Given the description of an element on the screen output the (x, y) to click on. 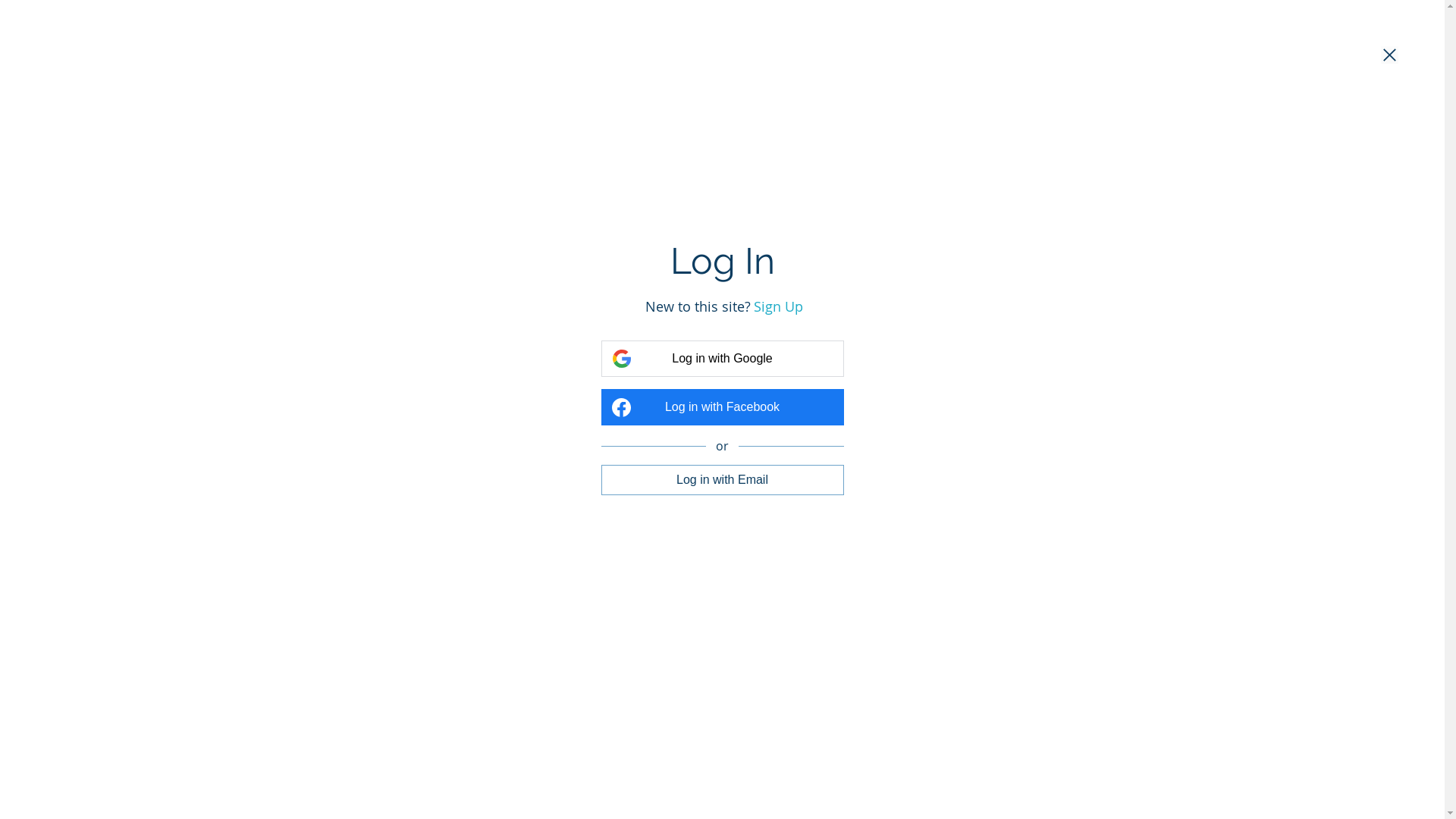
Sign Up Element type: text (778, 306)
Log in with Facebook Element type: text (721, 407)
Log in with Email Element type: text (721, 479)
Log in with Google Element type: text (721, 358)
